Given the description of an element on the screen output the (x, y) to click on. 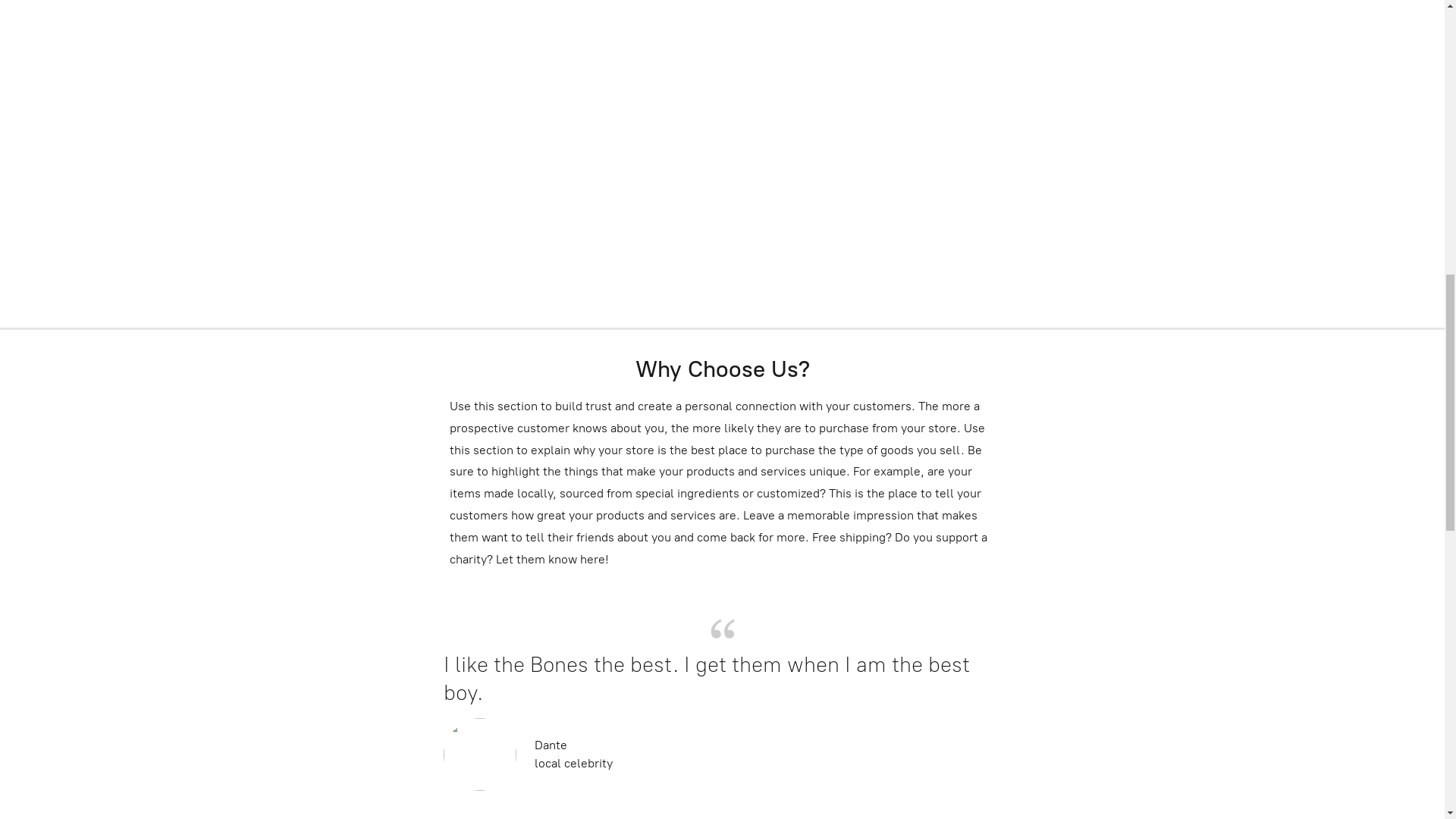
Get directions Element type: text (1244, 26)
Business hours Element type: text (1356, 26)
Shop Now Element type: text (722, 550)
